Given the description of an element on the screen output the (x, y) to click on. 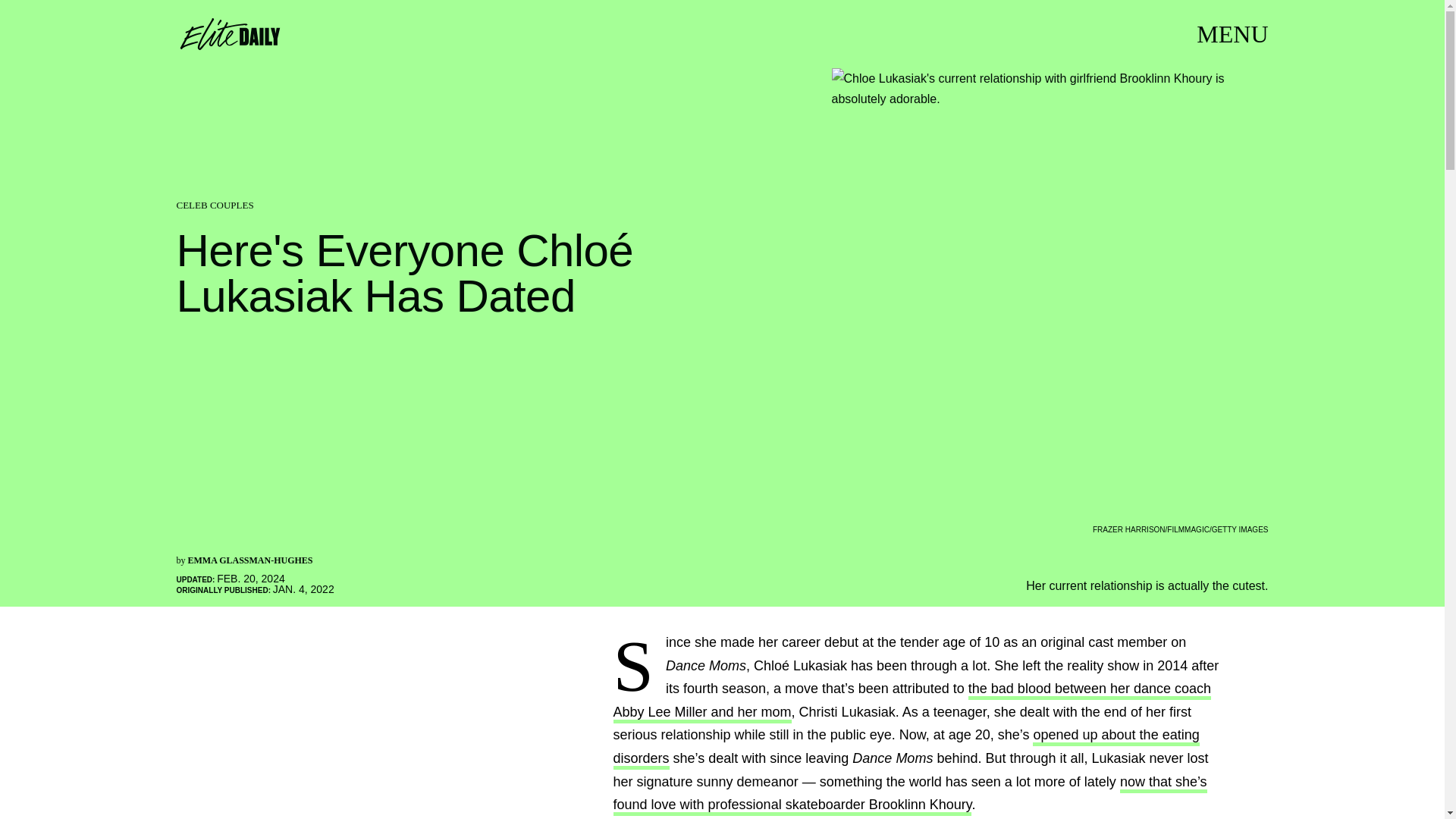
EMMA GLASSMAN-HUGHES (250, 560)
opened up about the eating disorders (905, 748)
Elite Daily (229, 33)
